Given the description of an element on the screen output the (x, y) to click on. 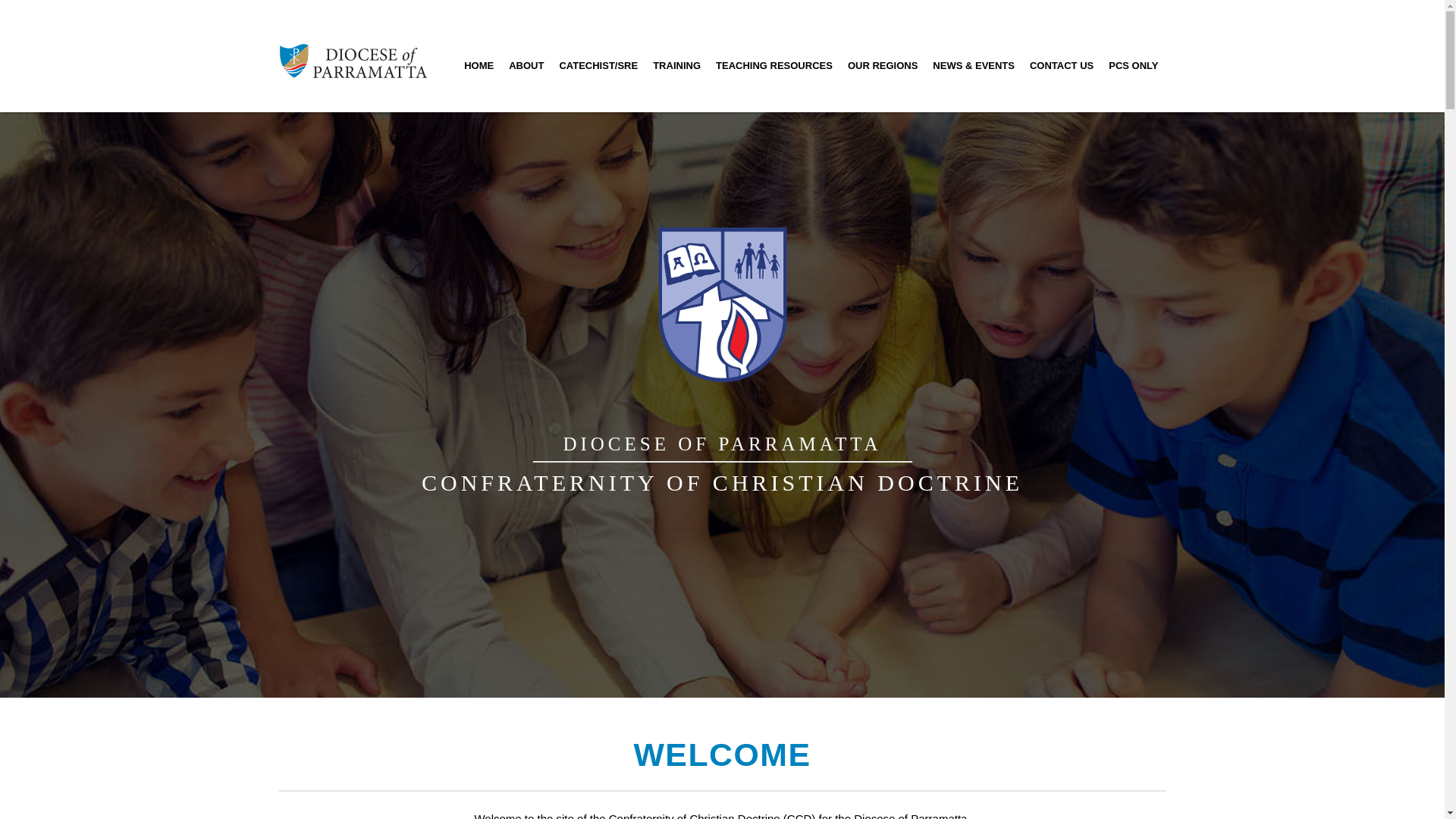
ABOUT Element type: text (526, 63)
NEWS & EVENTS Element type: text (973, 63)
PCS ONLY Element type: text (1133, 63)
TEACHING RESOURCES Element type: text (774, 63)
The Official Website of the Diocese of Parramatta Element type: hover (353, 54)
OUR REGIONS Element type: text (882, 63)
TRAINING Element type: text (676, 63)
HOME Element type: text (478, 63)
CONTACT US Element type: text (1061, 63)
CATECHIST/SRE Element type: text (598, 63)
